Given the description of an element on the screen output the (x, y) to click on. 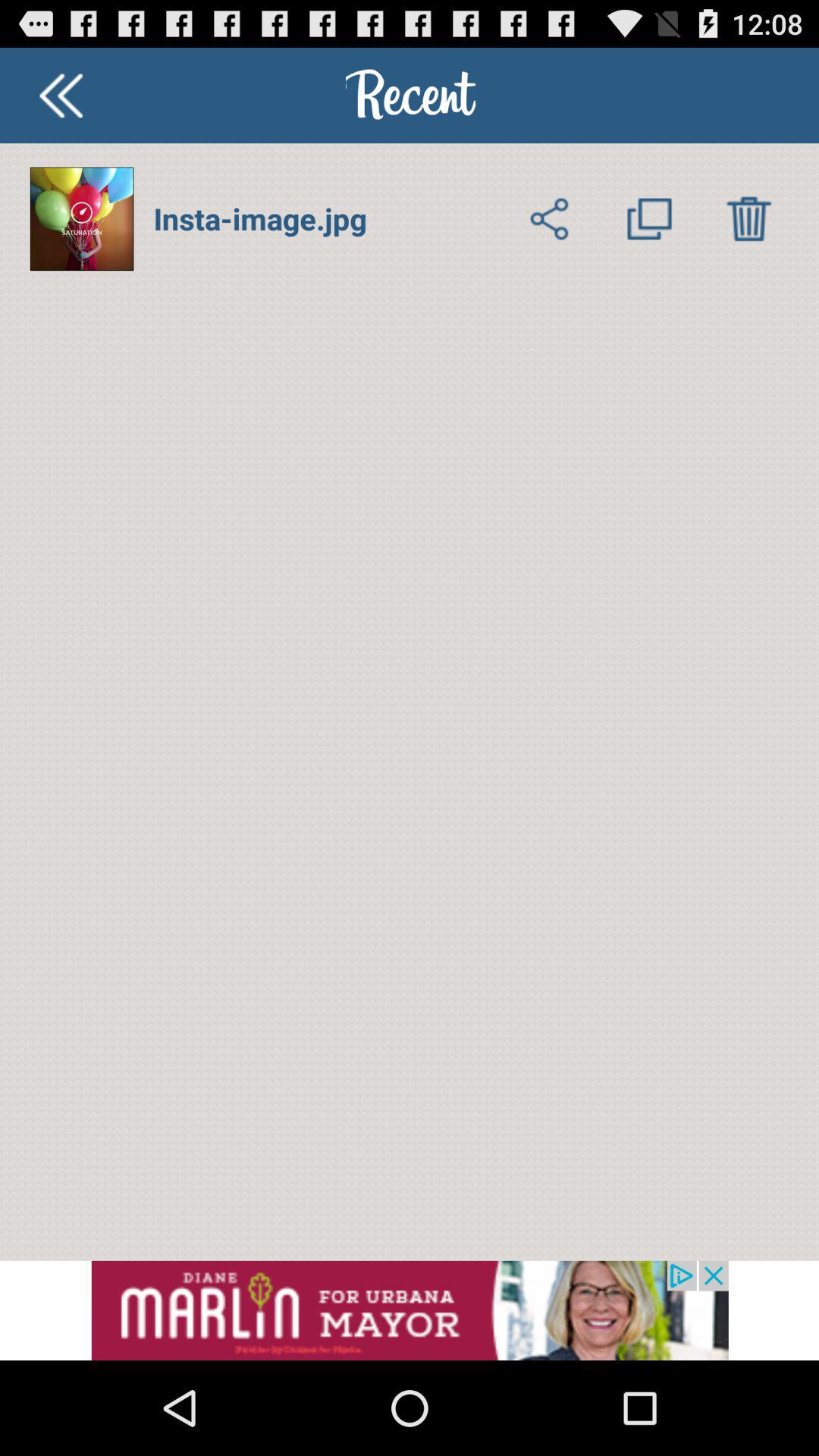
copy (649, 218)
